Given the description of an element on the screen output the (x, y) to click on. 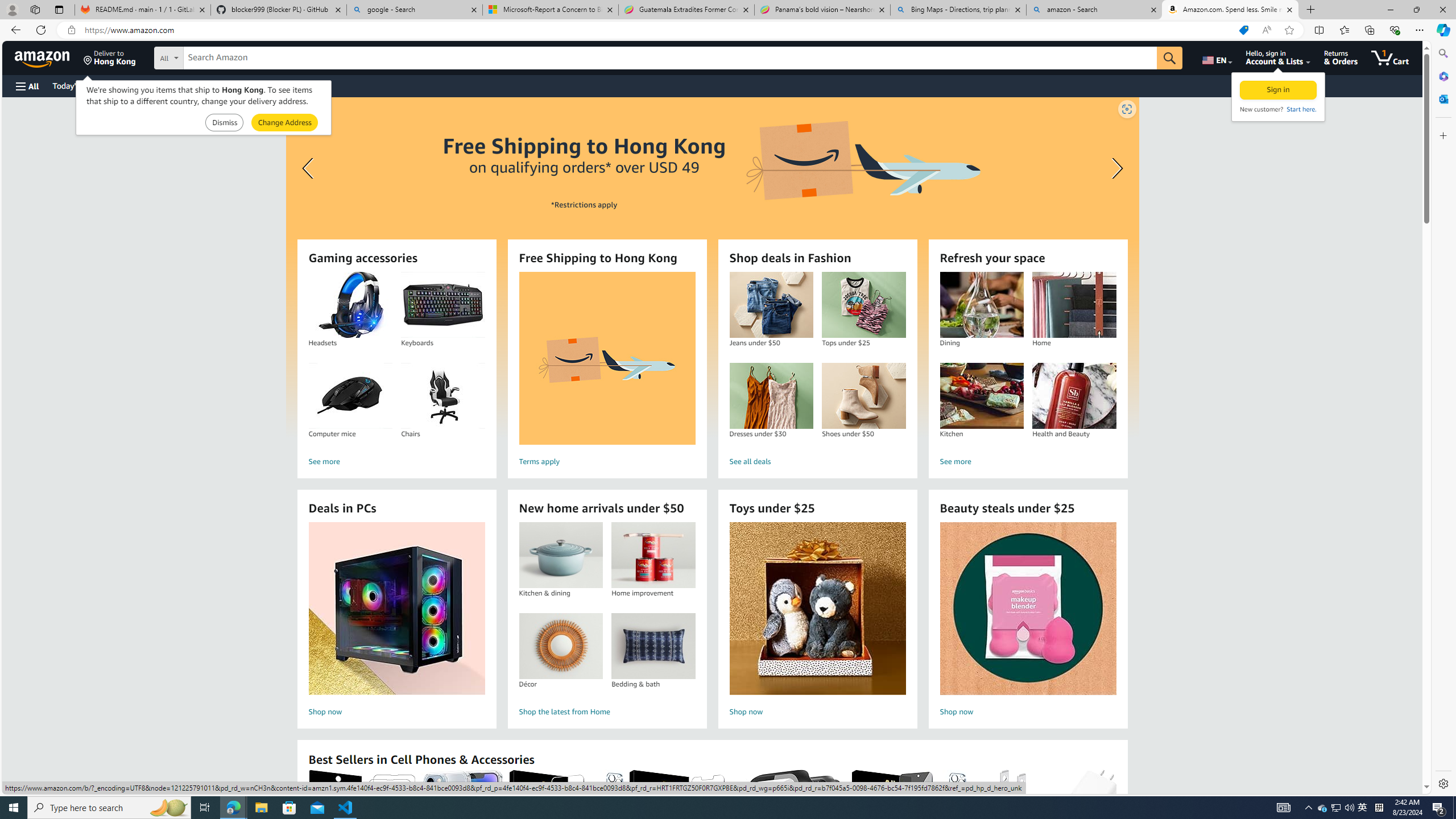
Chairs (442, 395)
Jeans under $50 (771, 304)
Sell (290, 85)
Home improvement (653, 555)
Shoes under $50 (863, 395)
Toys under $25 (818, 608)
Dining (981, 304)
Health and Beauty (1074, 395)
Deals in PCs Shop now (396, 620)
Chairs (443, 395)
